Given the description of an element on the screen output the (x, y) to click on. 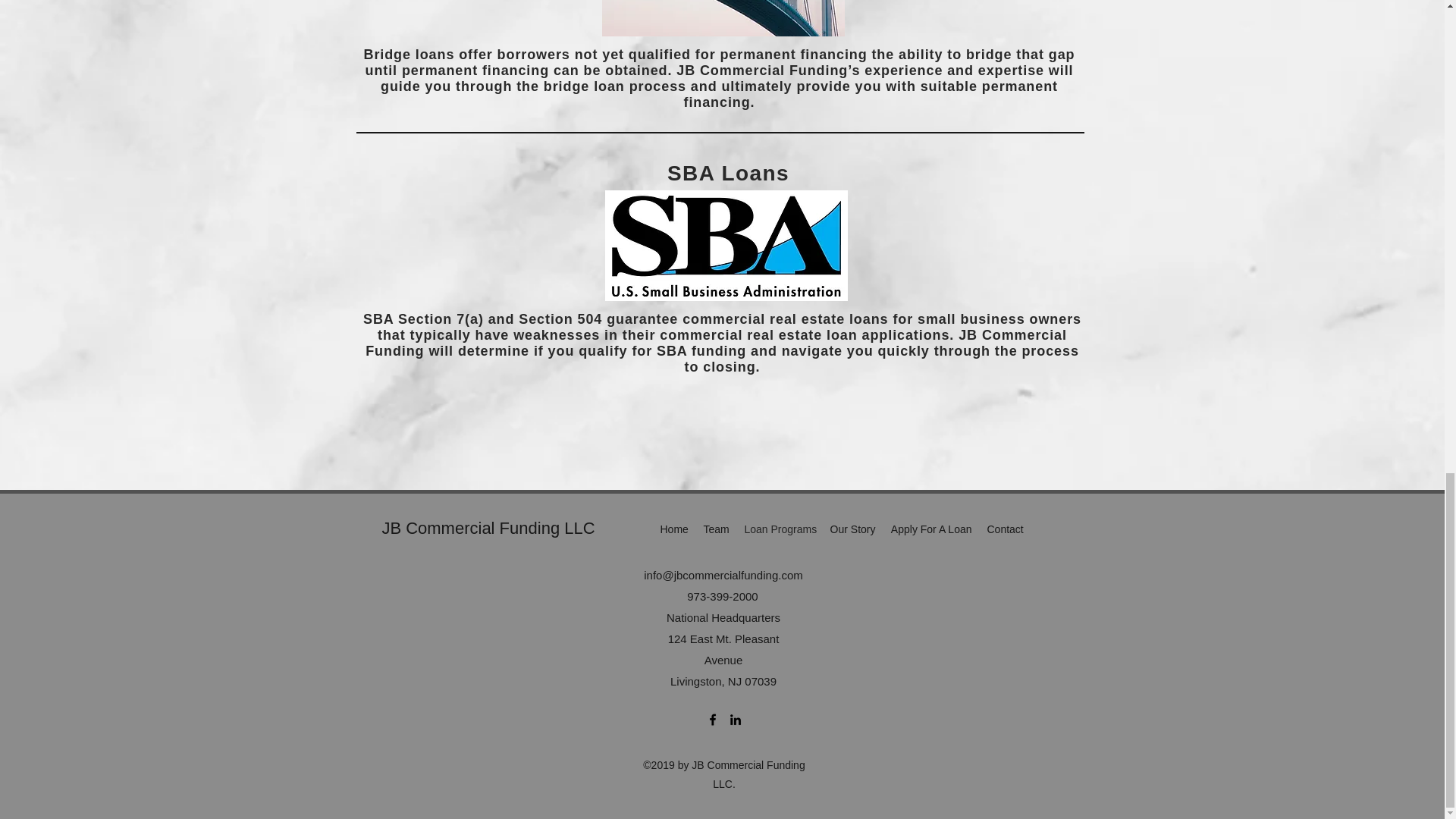
Our Story (852, 529)
Loan Programs (779, 529)
Contractor (726, 245)
Apply For A Loan (930, 529)
Home (673, 529)
Team (715, 529)
JB Commercial Funding LLC (487, 527)
Contractor (723, 18)
Contact (1004, 529)
